Given the description of an element on the screen output the (x, y) to click on. 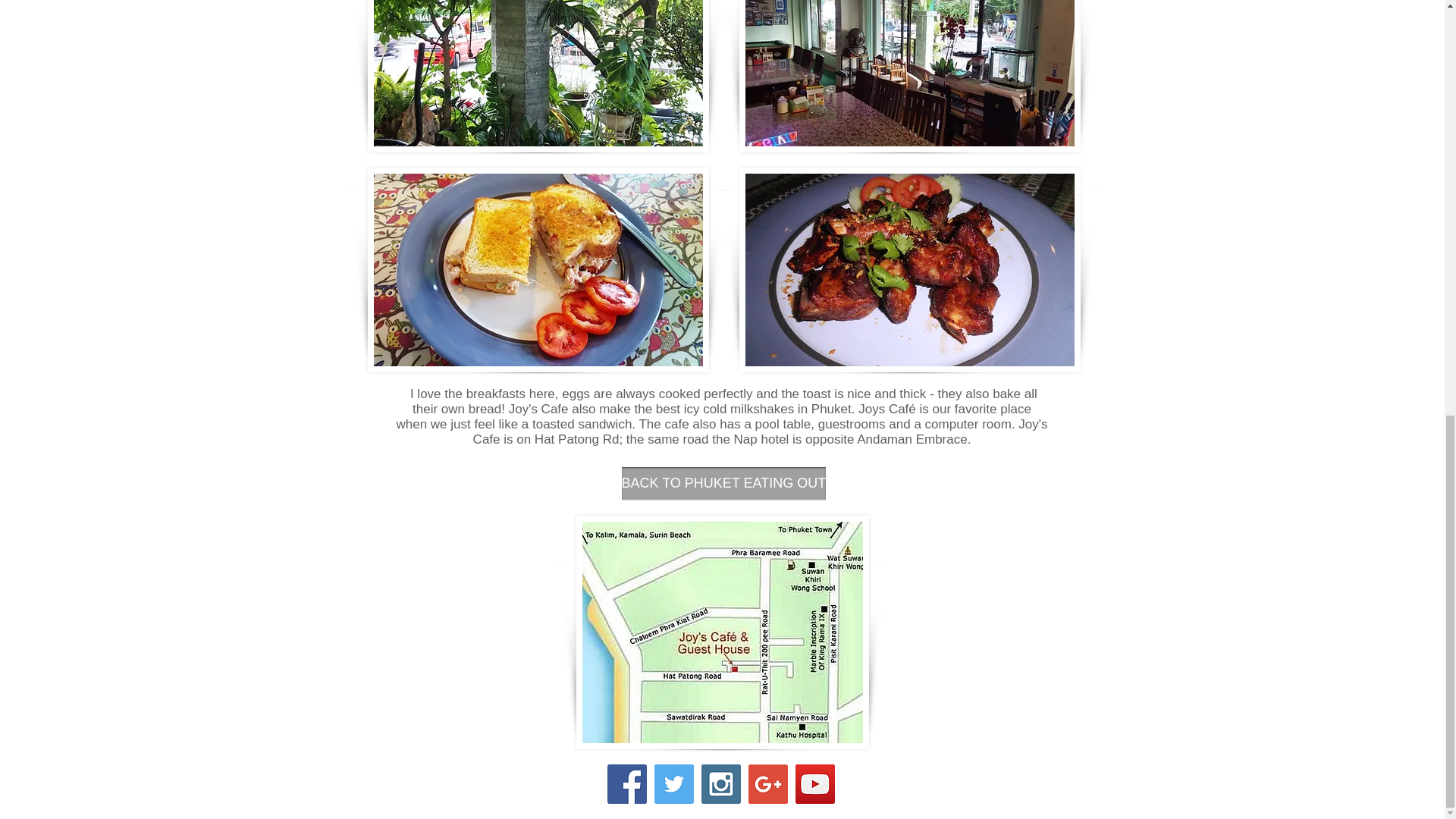
Joy's Cafe - My Favorite Tuna Sandwich (536, 269)
Joy's Cafe - Patong Beach (909, 76)
Joy's Cafe (909, 269)
Joy's Cafe (536, 76)
Joy's Cafe - Location Map (722, 632)
BACK TO PHUKET EATING OUT (724, 483)
